Given the description of an element on the screen output the (x, y) to click on. 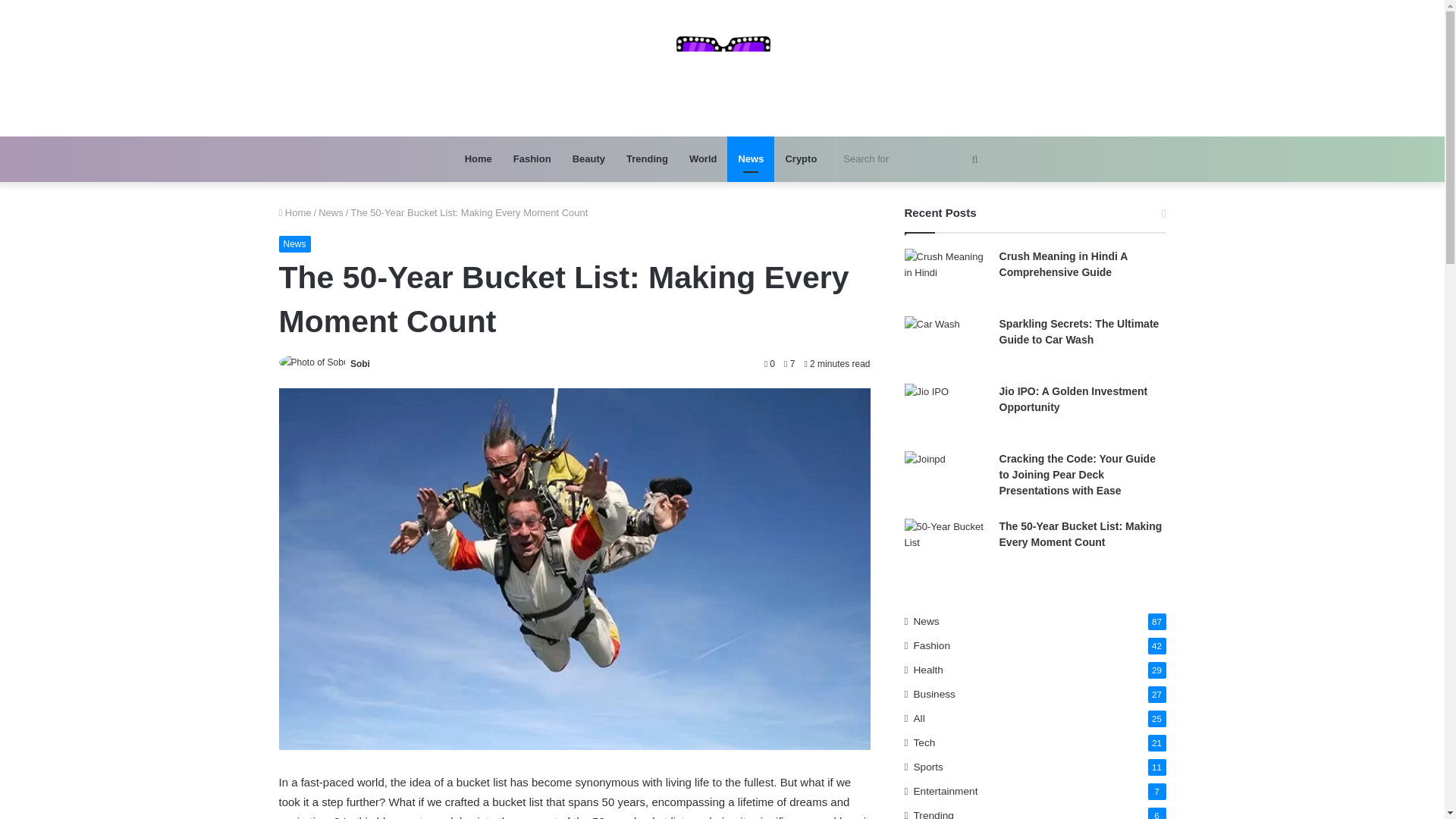
Beauty (588, 158)
Home (478, 158)
Home (295, 212)
FutureFashion4You (722, 68)
Trending (646, 158)
Sobi (359, 363)
Search for (912, 158)
News (330, 212)
Sobi (359, 363)
News (295, 243)
